Given the description of an element on the screen output the (x, y) to click on. 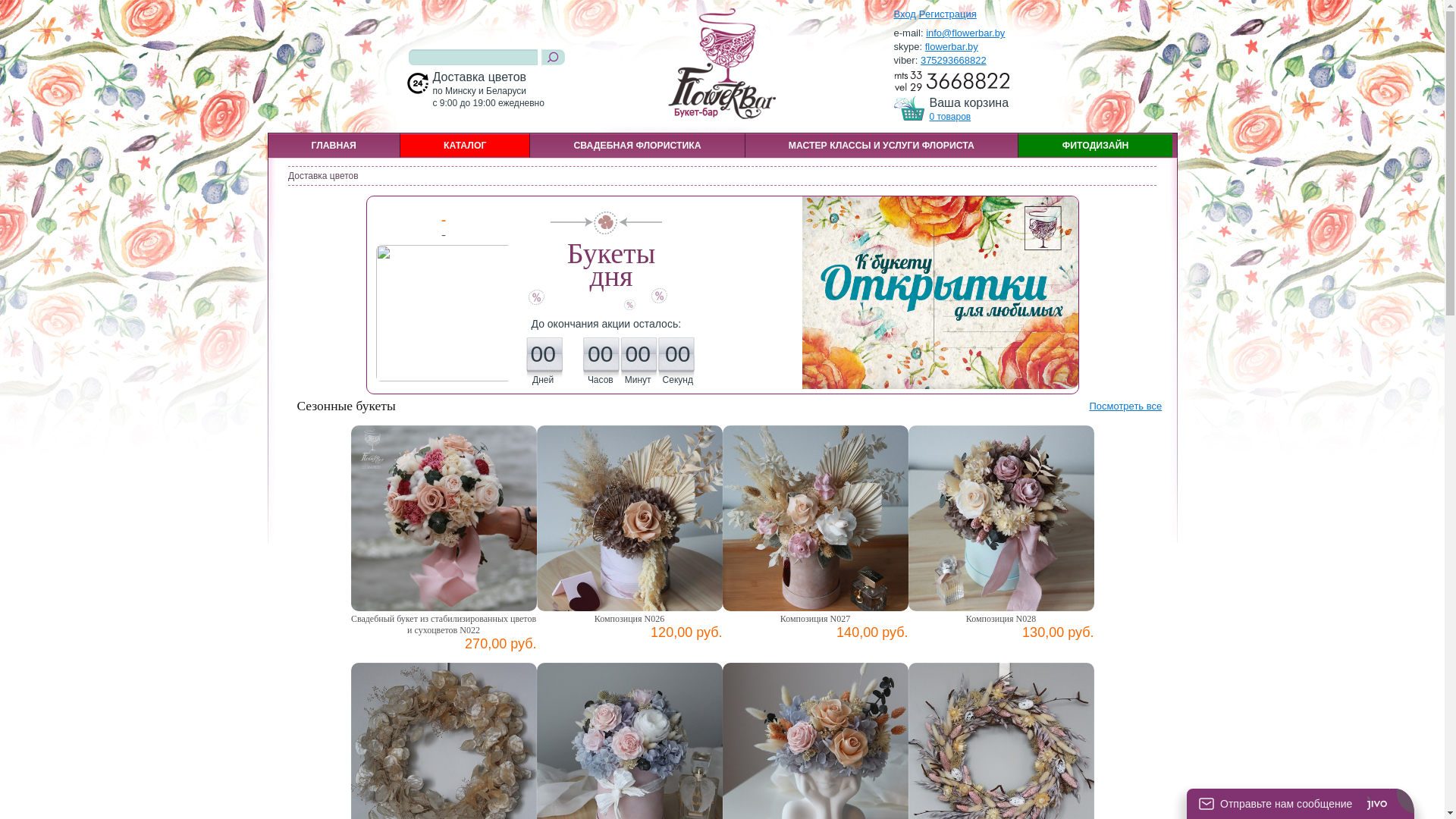
flowerbar.by Element type: text (951, 46)
info@flowerbar.by Element type: text (964, 32)
375293668822 Element type: text (953, 59)
